Given the description of an element on the screen output the (x, y) to click on. 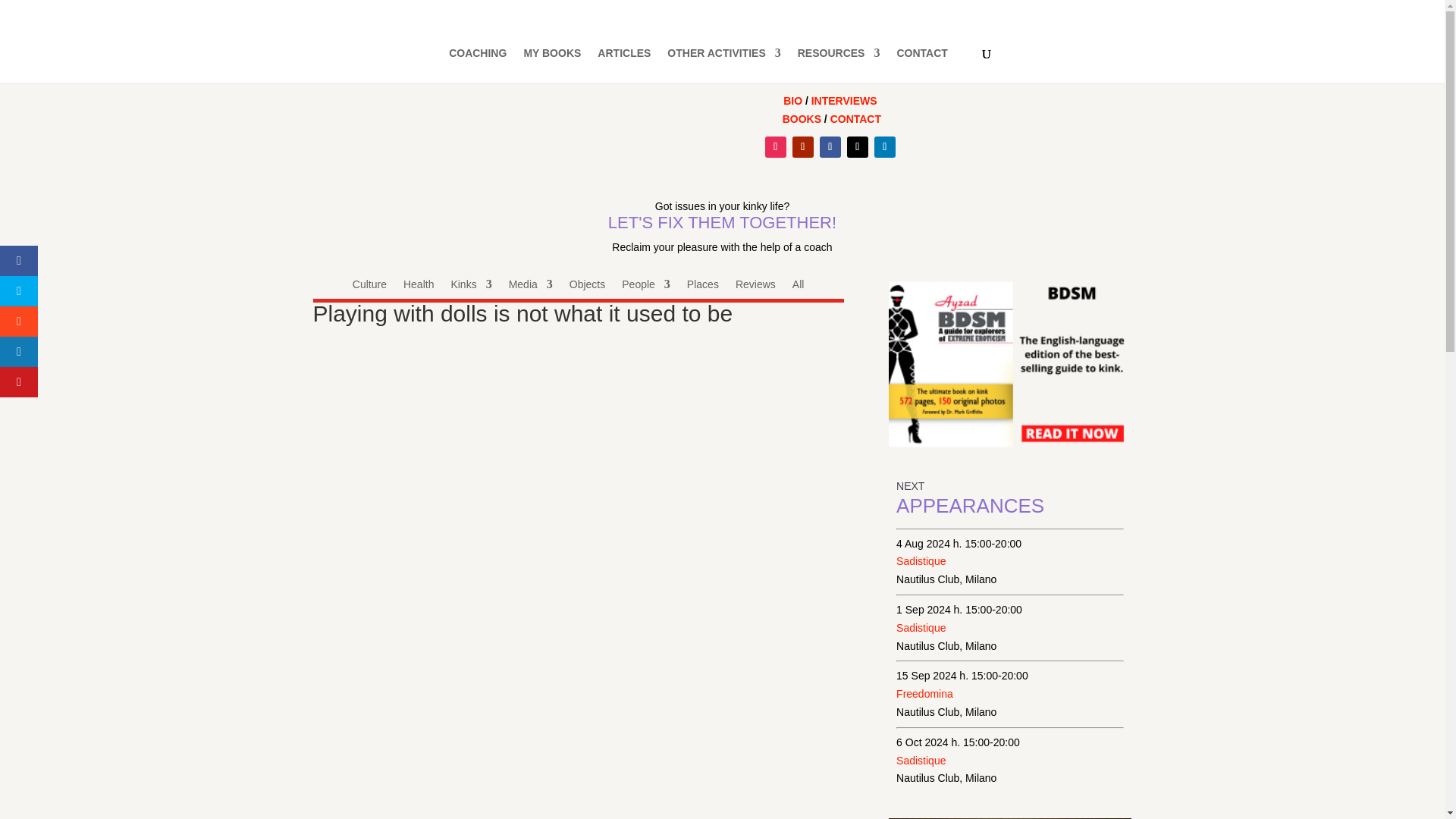
Follow on Youtube (802, 147)
COACHING (477, 65)
CONTACT (921, 65)
OTHER ACTIVITIES (723, 65)
Follow on X (857, 147)
BOOKS (802, 119)
Follow on Instagram (775, 147)
CONTACT (854, 119)
RESOURCES (838, 65)
Follow on Facebook (830, 147)
INTERVIEWS (843, 101)
Follow on LinkedIn (885, 147)
MY BOOKS (551, 65)
BIO (792, 101)
ARTICLES (623, 65)
